Given the description of an element on the screen output the (x, y) to click on. 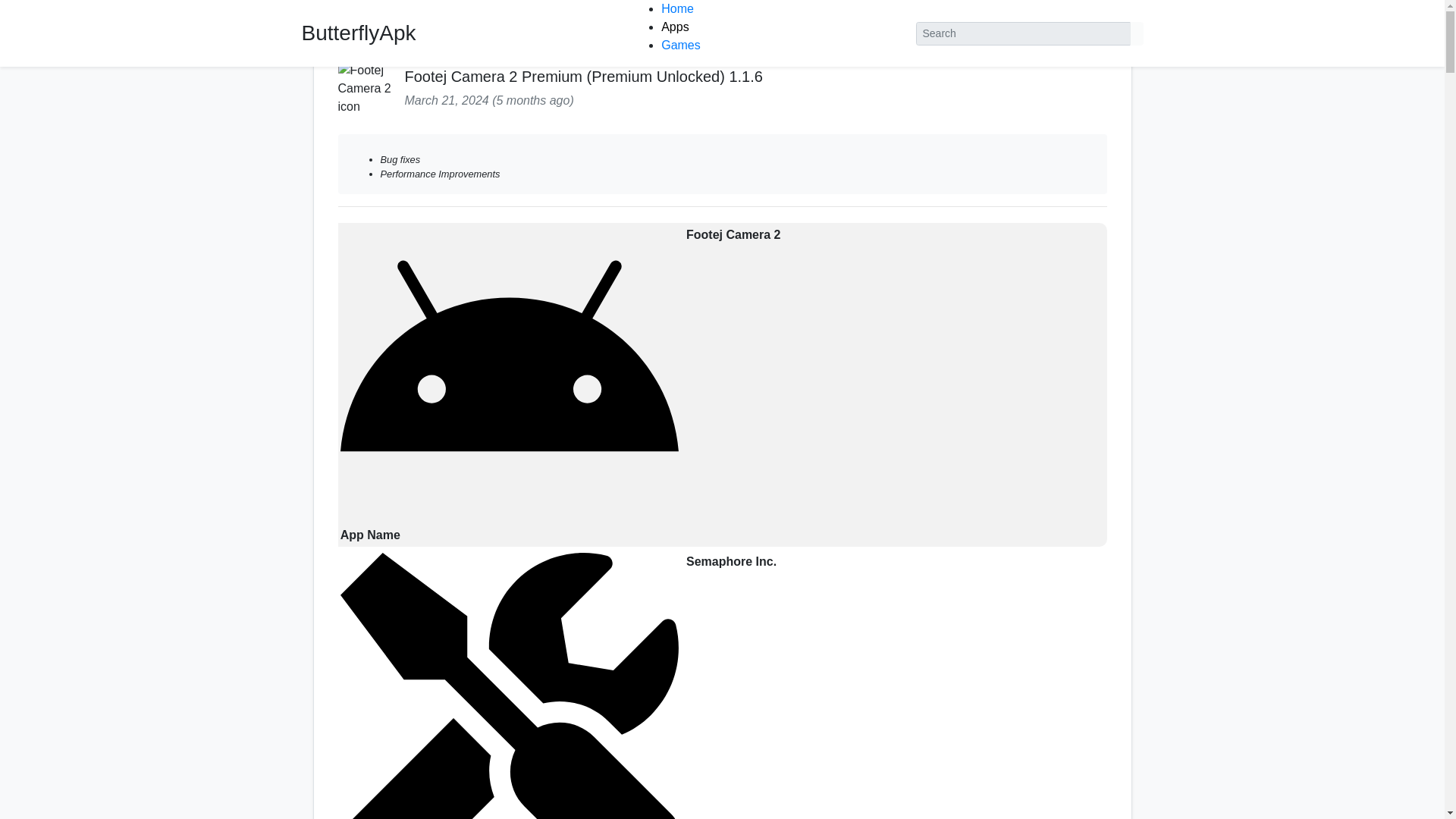
photography (422, 30)
Games (680, 44)
Apps (674, 26)
Home (354, 30)
ButterflyApk (358, 33)
Home (354, 30)
Home (677, 8)
